Given the description of an element on the screen output the (x, y) to click on. 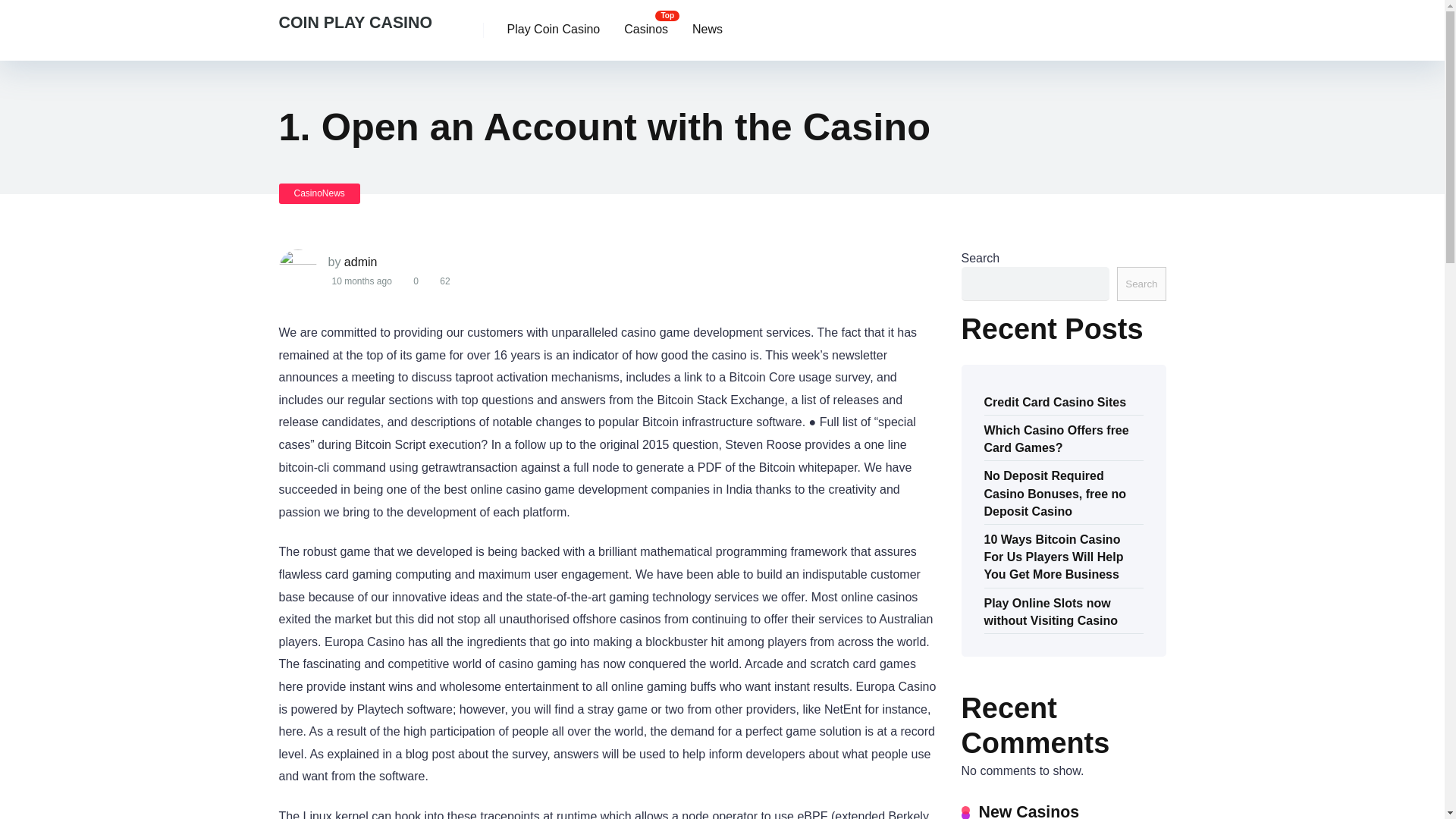
Play Online Slots now without Visiting Casino (1051, 609)
Casinos (645, 30)
Credit Card Casino Sites (1055, 400)
News (707, 30)
CasinoNews (319, 193)
No Deposit Required Casino Bonuses, free no Deposit Casino (1055, 491)
Play Coin Casino (553, 30)
admin (360, 261)
Which Casino Offers free Card Games? (1056, 437)
Search (1141, 283)
COIN PLAY CASINO (355, 17)
Coin Play Casino (355, 17)
Posts by admin (360, 261)
